Given the description of an element on the screen output the (x, y) to click on. 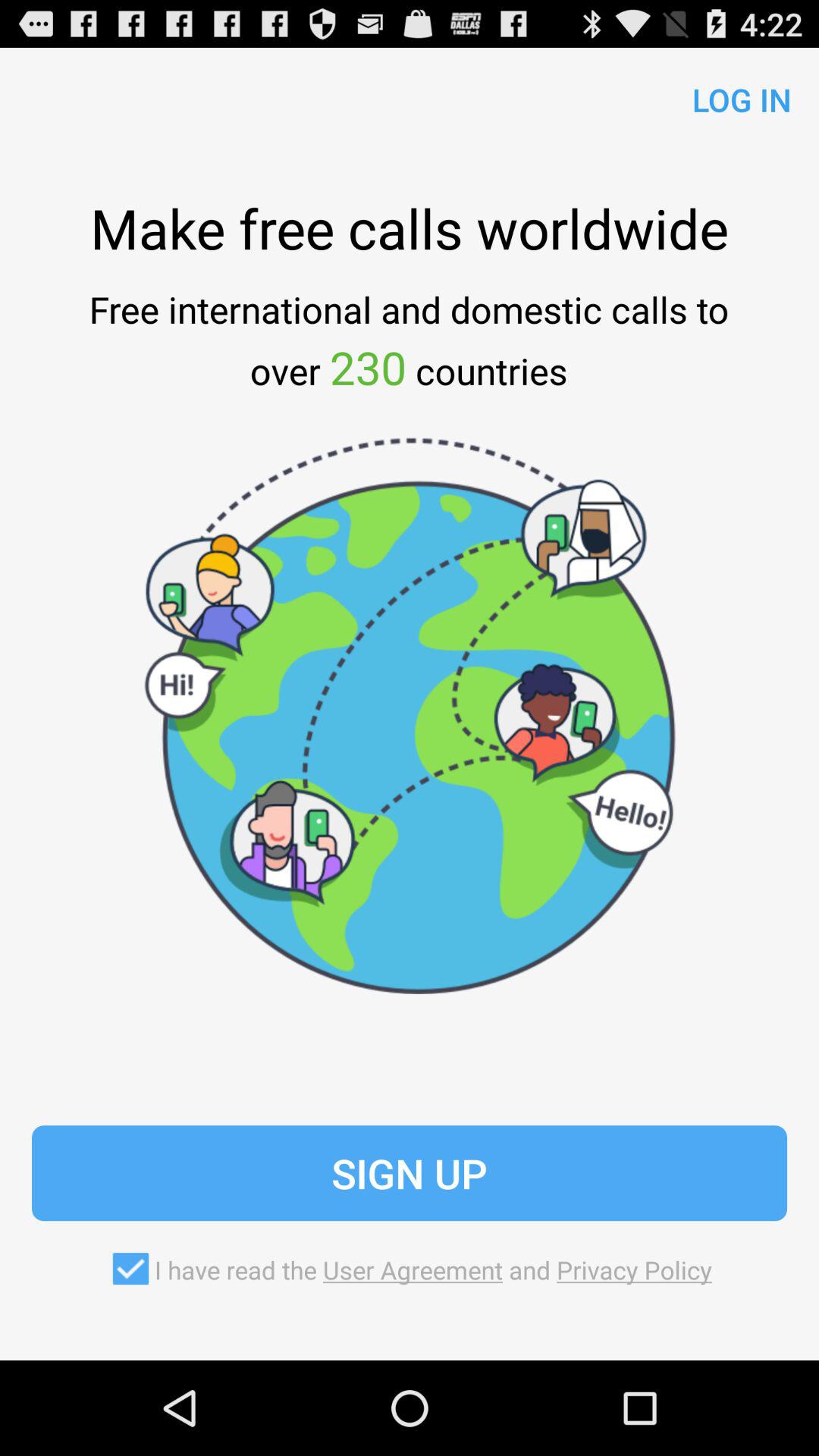
launch item at the top right corner (735, 96)
